Given the description of an element on the screen output the (x, y) to click on. 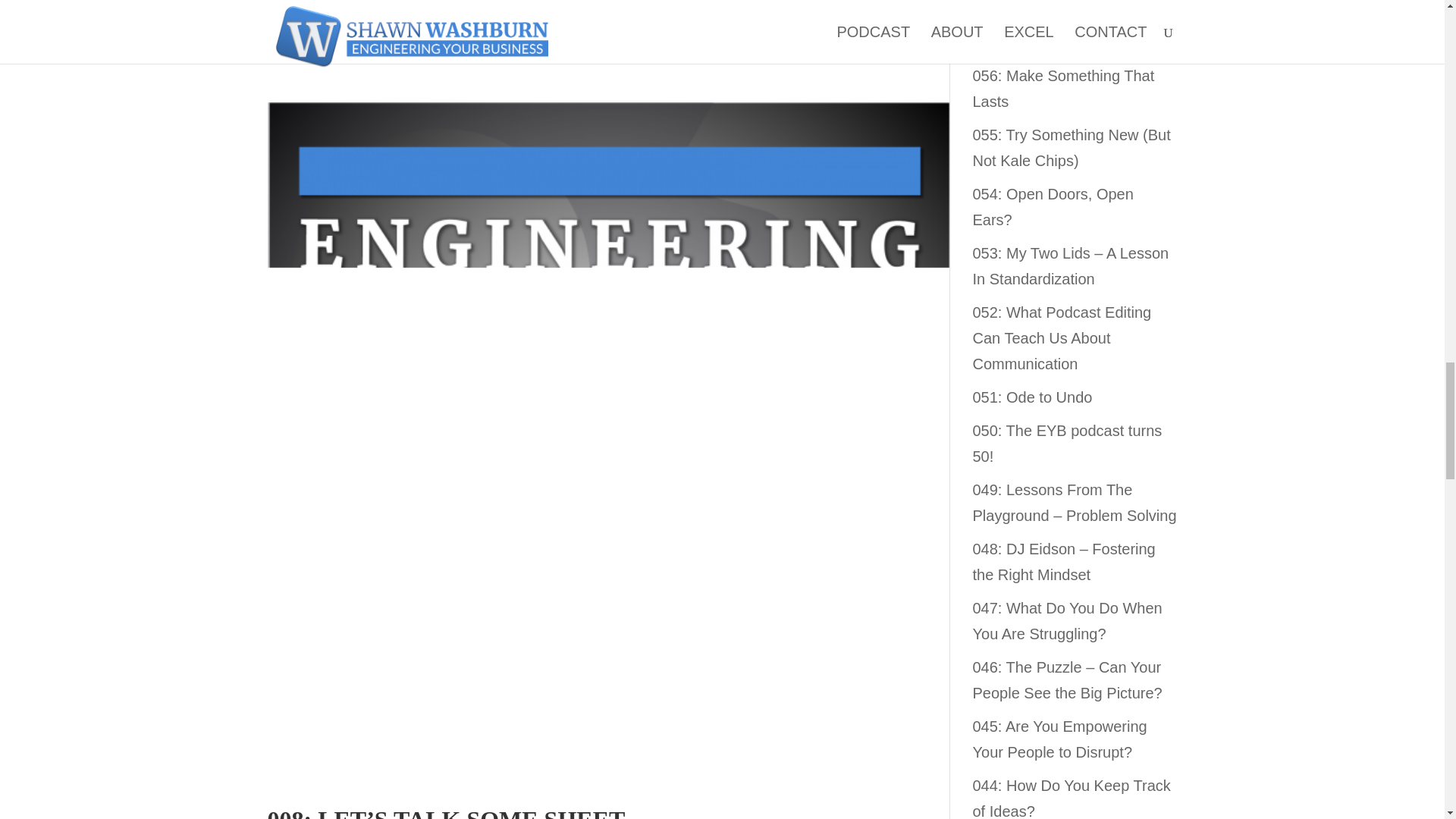
LinkedIn (783, 17)
Facebook (857, 17)
website (716, 17)
